Given the description of an element on the screen output the (x, y) to click on. 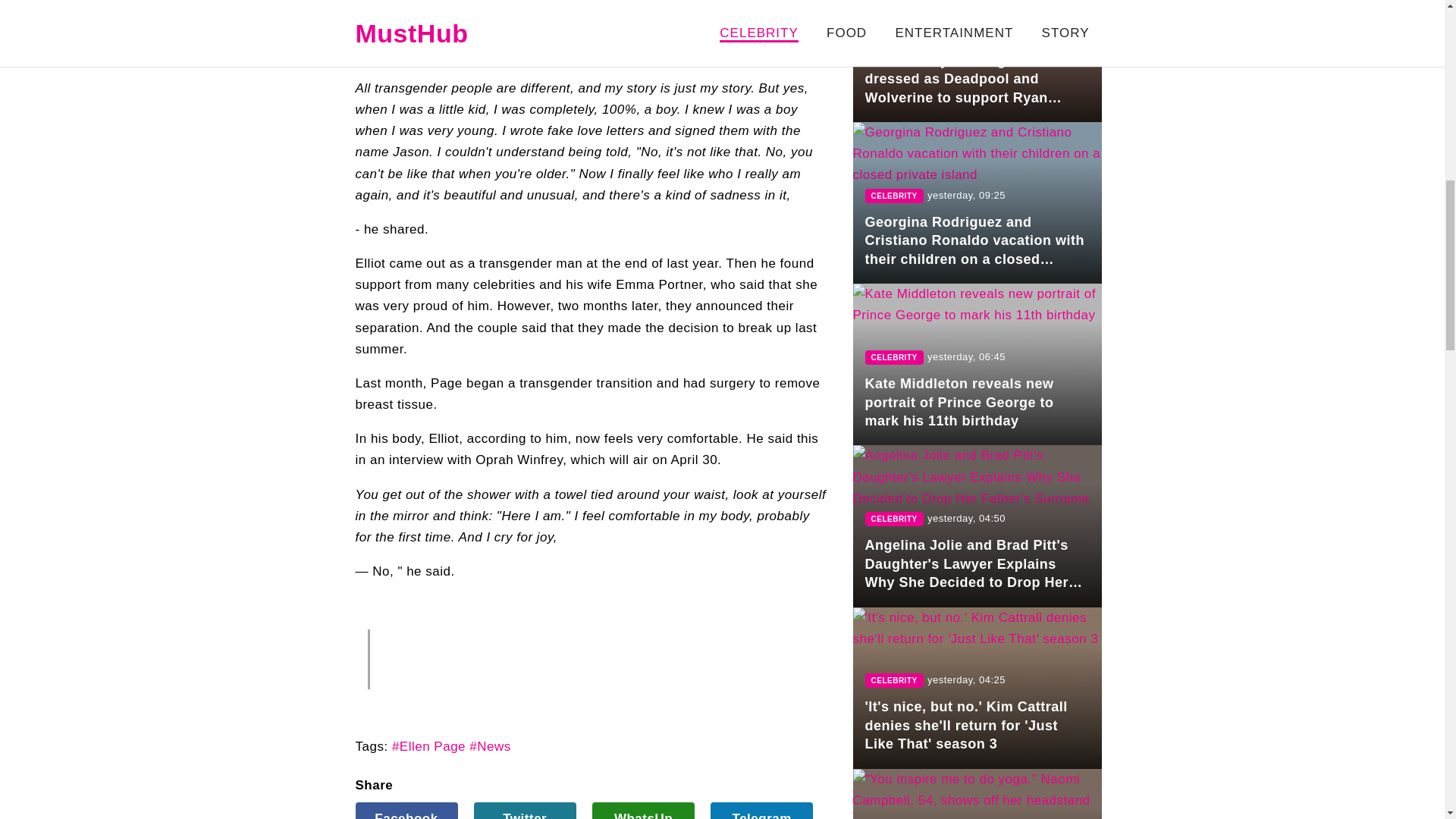
Twitter (525, 810)
Facebook (406, 810)
WhatsUp (643, 810)
Telegram (761, 810)
